Given the description of an element on the screen output the (x, y) to click on. 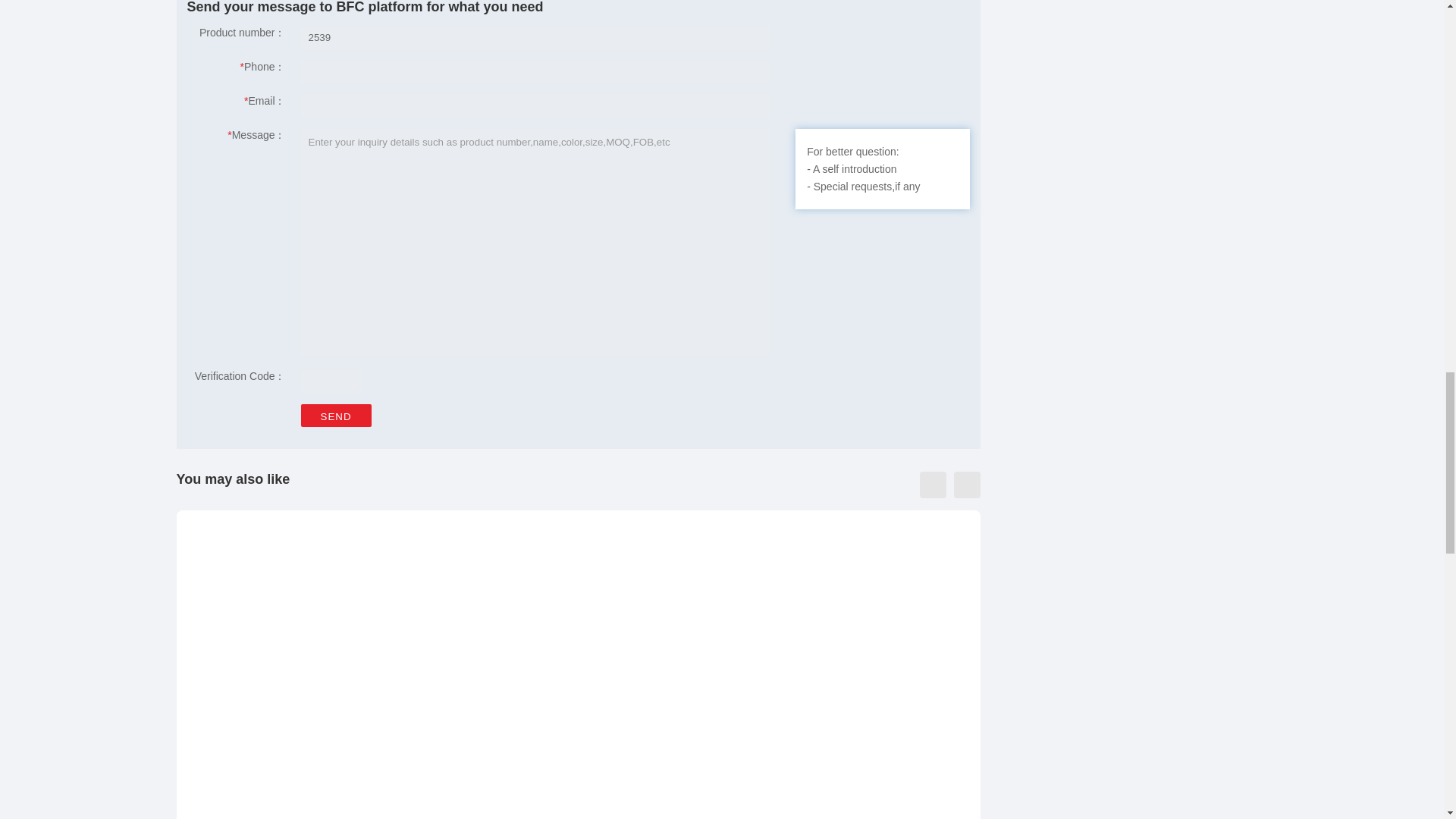
2539 (533, 37)
SEND (335, 415)
